Given the description of an element on the screen output the (x, y) to click on. 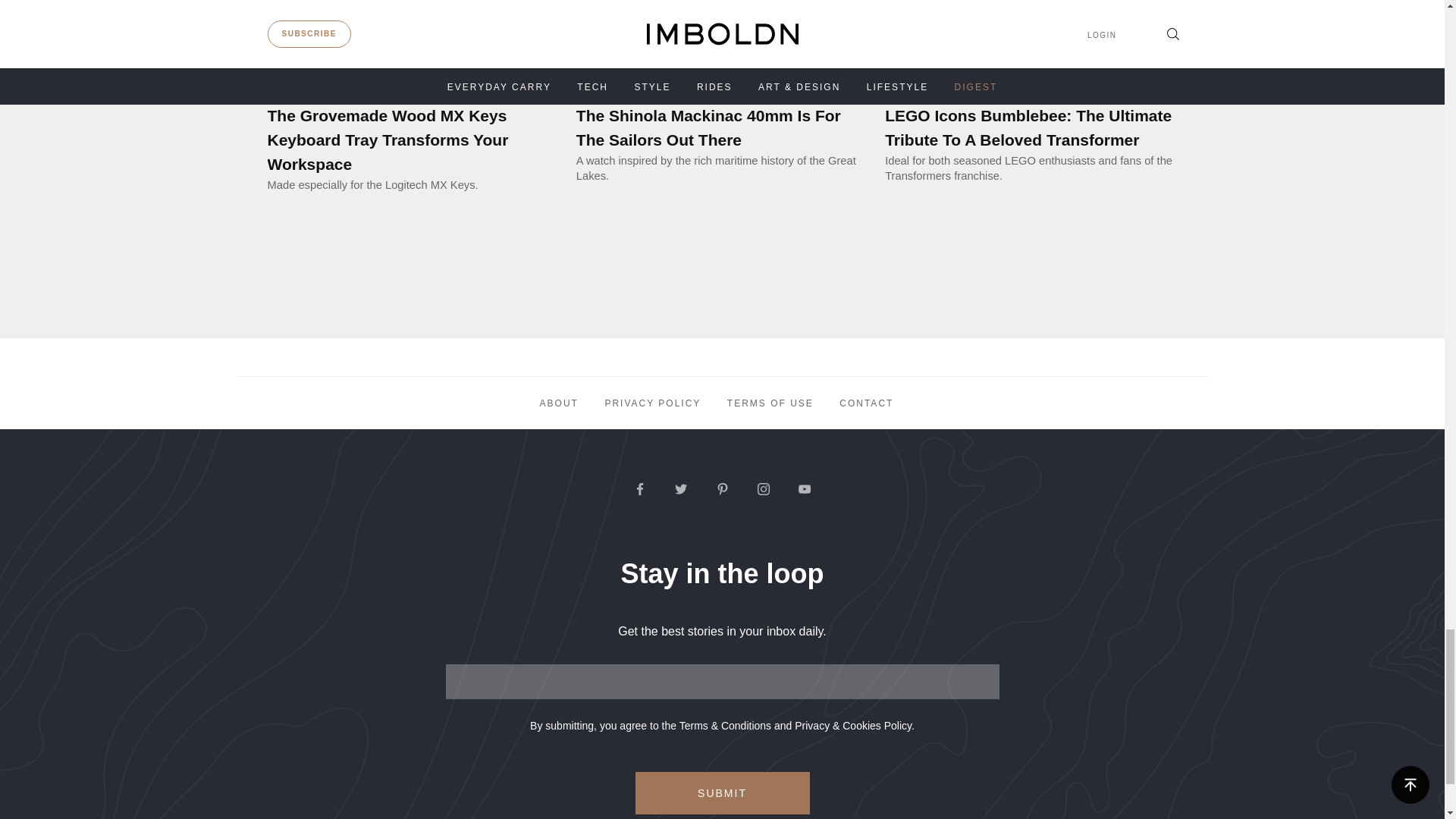
Submit (721, 793)
